Given the description of an element on the screen output the (x, y) to click on. 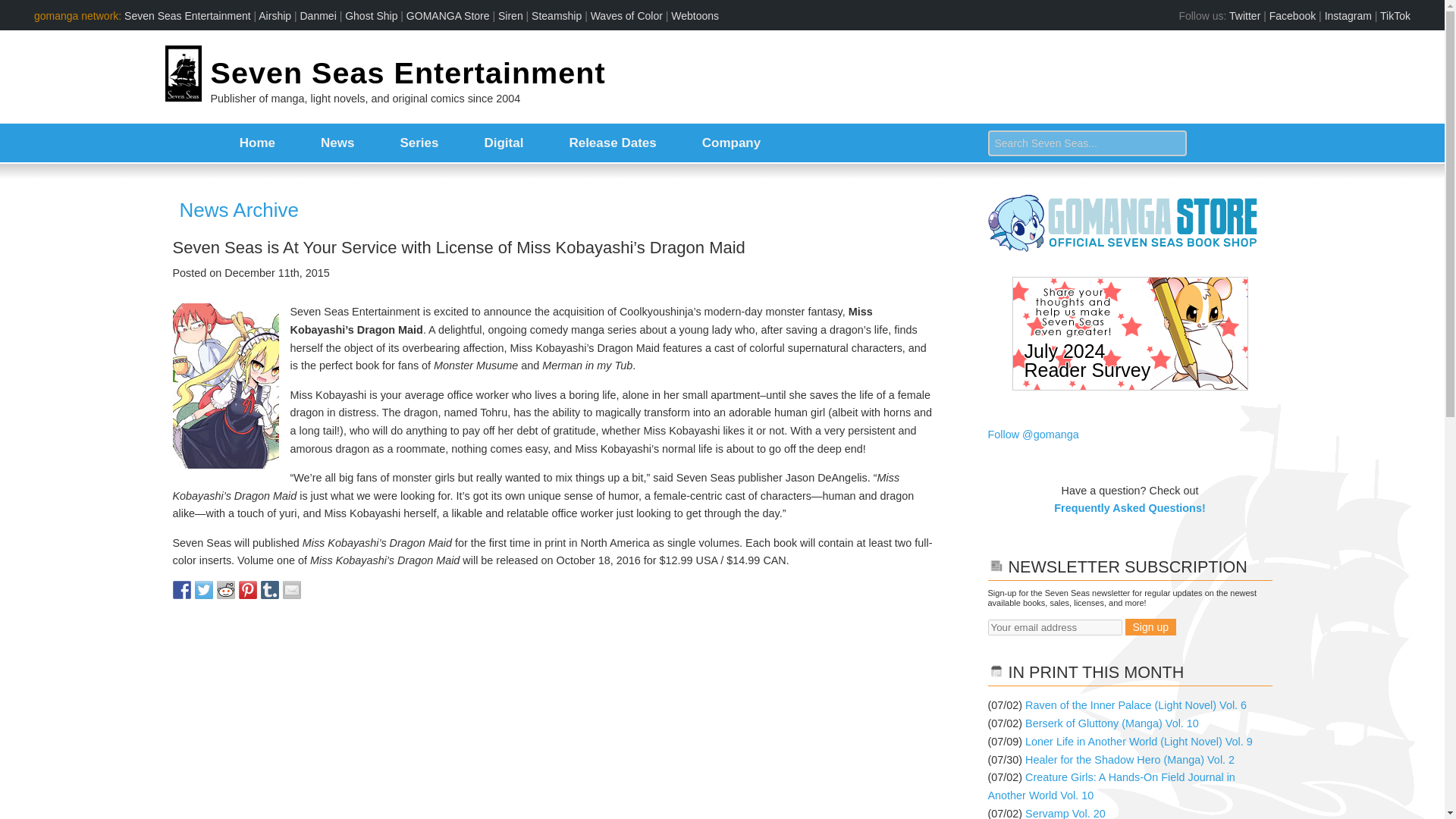
Pin it with Pinterest (247, 589)
Share by email (290, 589)
Steamship (555, 15)
TikTok (1395, 15)
Release Dates (612, 142)
Seven Seas July 2024 Survey (1129, 340)
Airship (275, 15)
Webtoons (695, 15)
Search Seven Seas... (1086, 143)
Share on Reddit (225, 589)
Danmei (317, 15)
Seven Seas Entertainment (408, 72)
Seven Seas Entertainment (186, 15)
GOMANGA Store (447, 15)
Twitter (1244, 15)
